Given the description of an element on the screen output the (x, y) to click on. 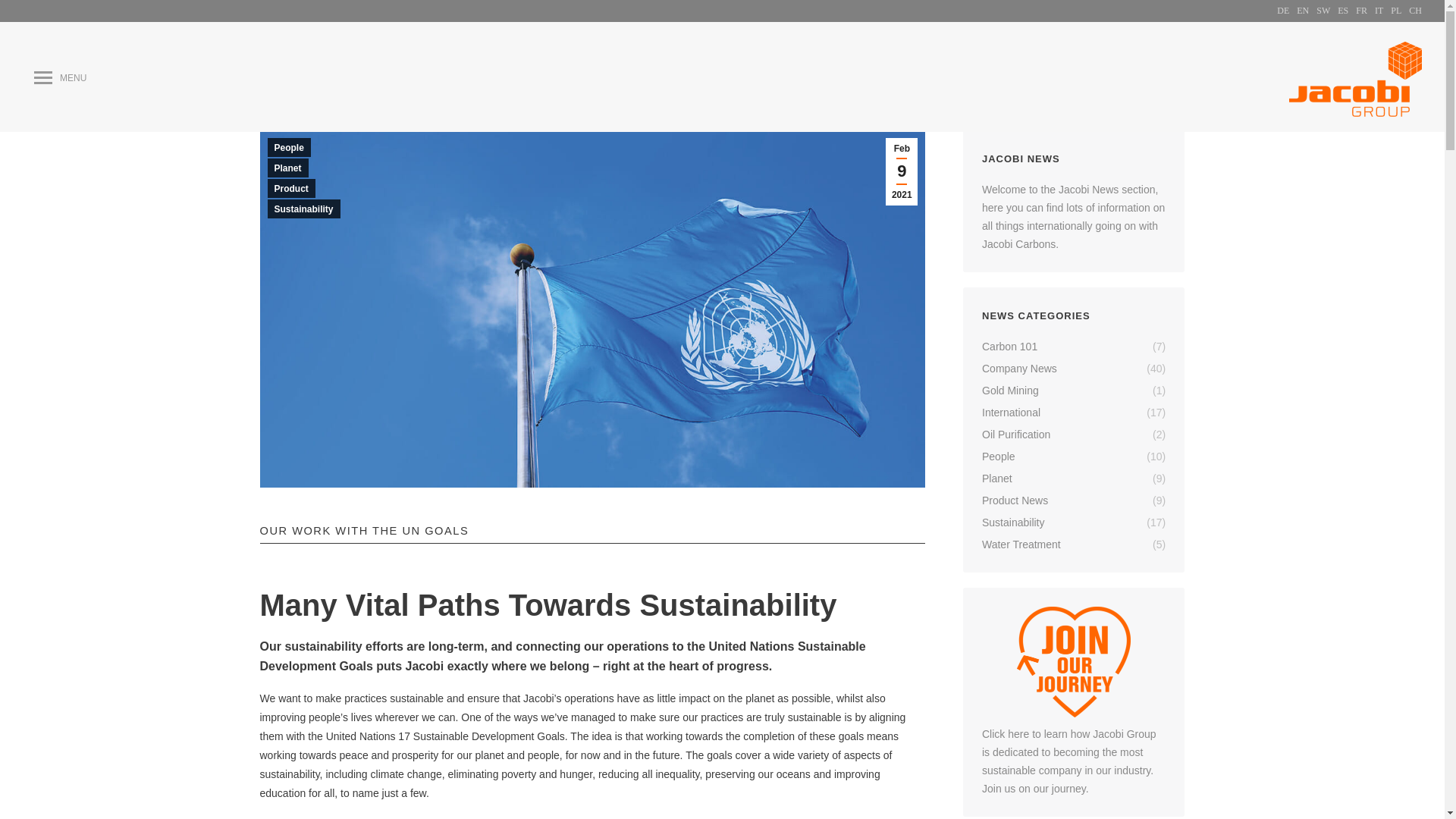
Go! (24, 16)
